Given the description of an element on the screen output the (x, y) to click on. 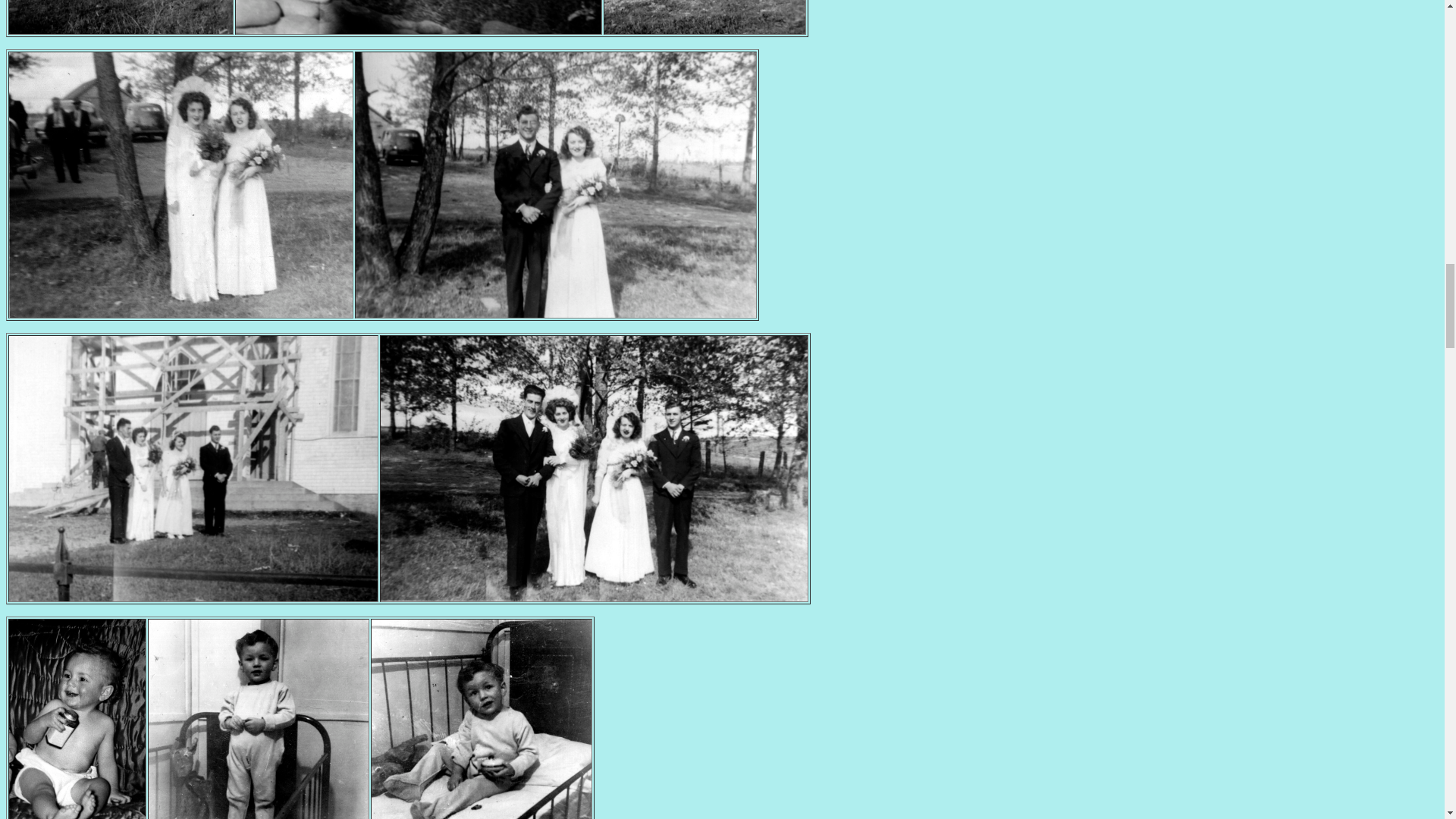
Herman, Ethel, Theresa, Ethel's brother. (594, 596)
Herman, Ethel, Theresa, Ethel's brother. (192, 596)
Ethel and Theresa. (180, 313)
Herman and Ethel. (120, 29)
Theresa and Ethel's brother. (555, 313)
Herman and Ethel. (418, 29)
